Given the description of an element on the screen output the (x, y) to click on. 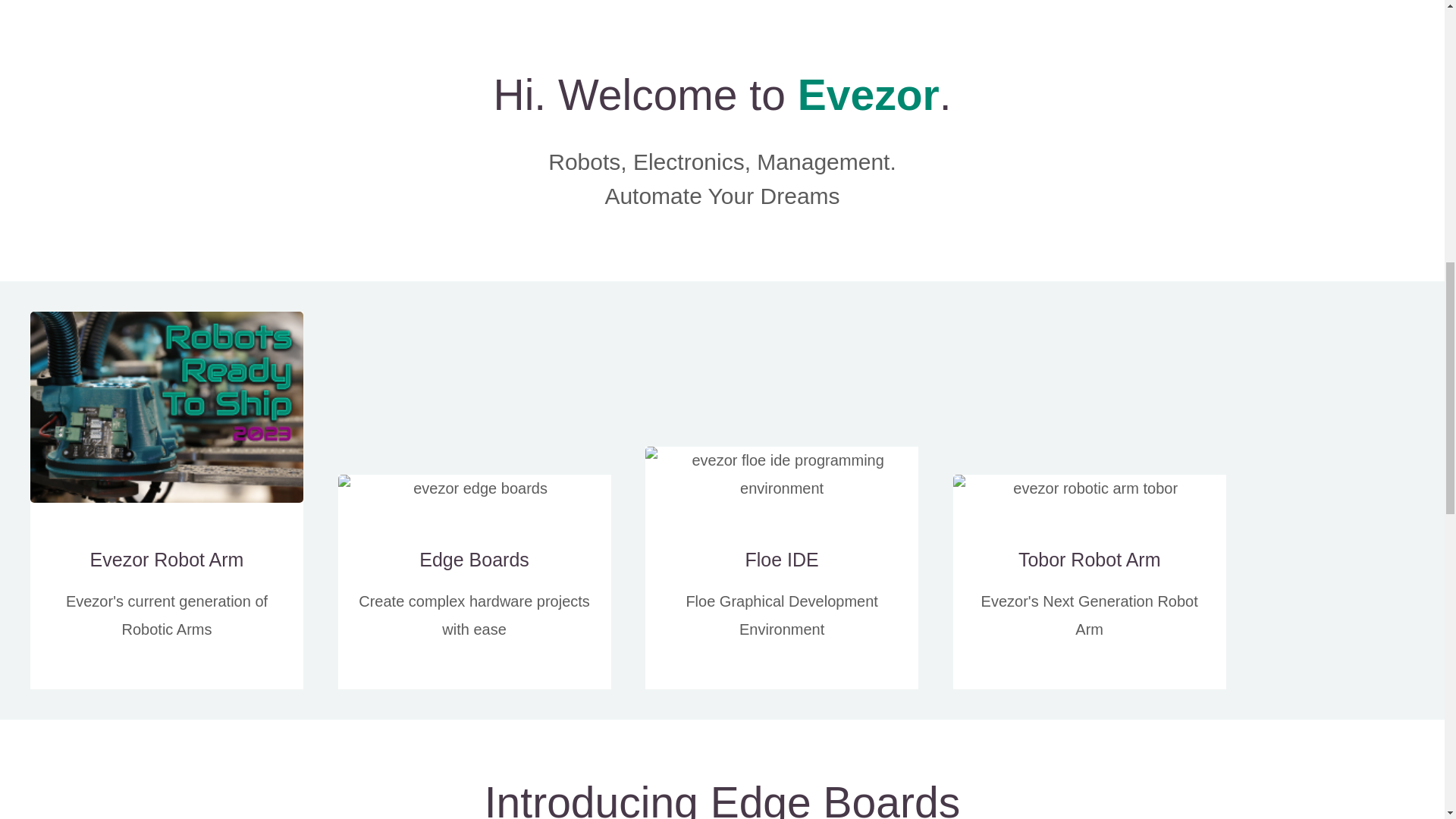
Evezor Robot Arm (167, 559)
Floe IDE (781, 559)
Tobor Robot Arm (1088, 559)
Edge Boards (474, 559)
